Given the description of an element on the screen output the (x, y) to click on. 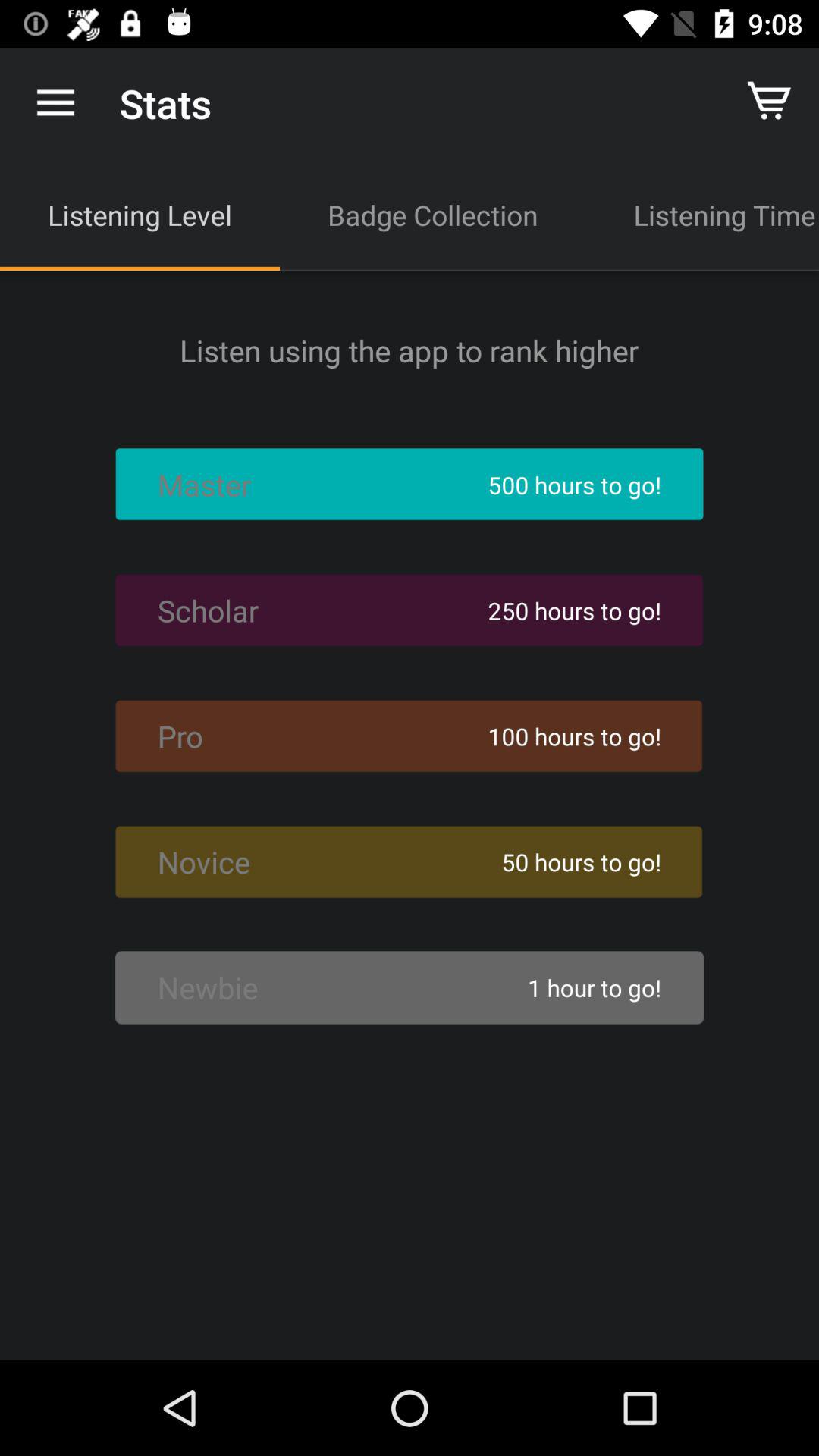
turn on app to the right of the listening level item (432, 214)
